Given the description of an element on the screen output the (x, y) to click on. 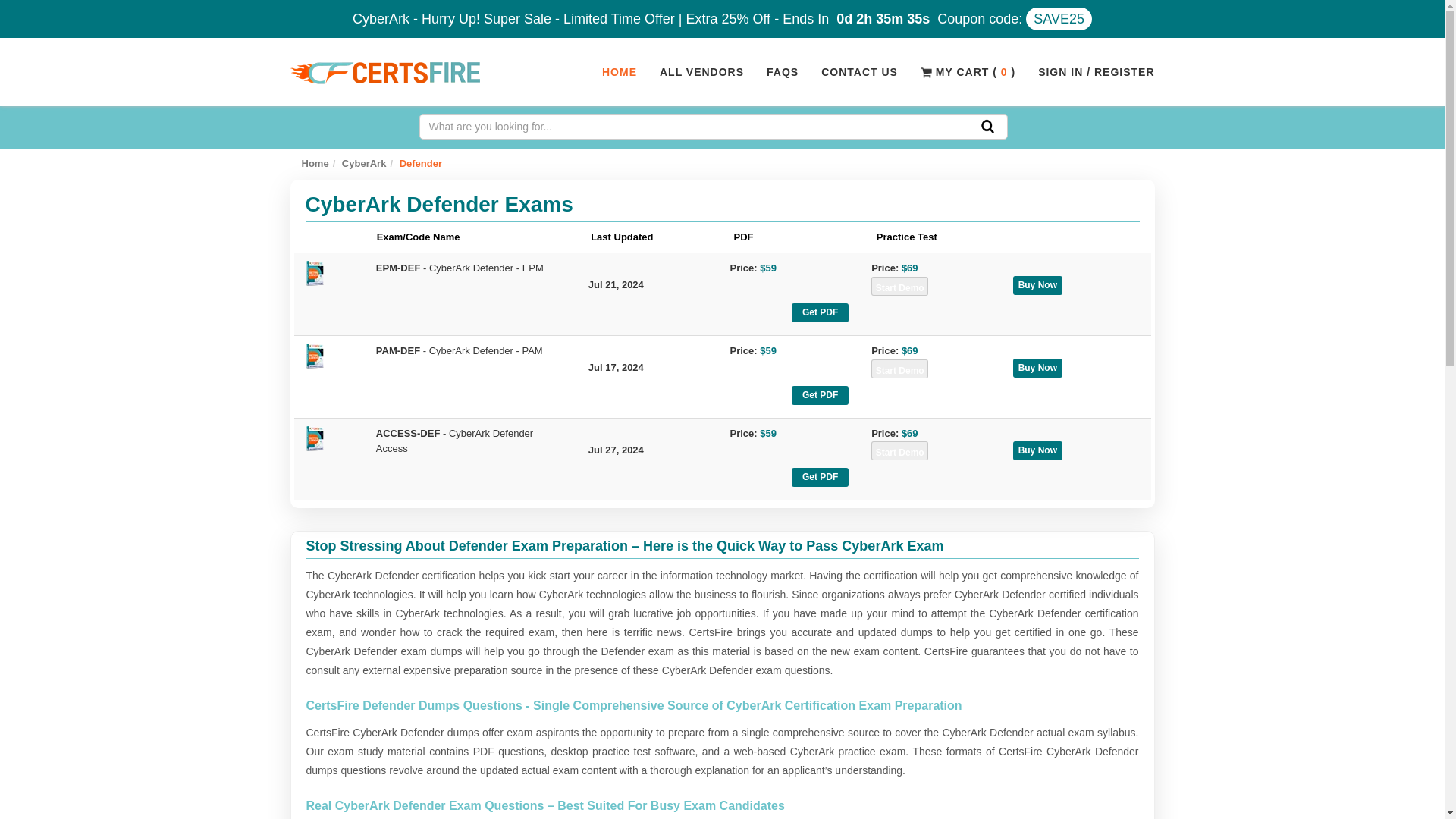
CyberArk (364, 163)
Get PDF (820, 476)
CONTACT US (858, 71)
Get PDF (820, 476)
Start Demo (899, 450)
Buy Now (1037, 367)
Get PDF (820, 312)
ACCESS-DEF (408, 432)
EPM-DEF (397, 267)
Buy Now (1037, 450)
ALL VENDORS (701, 71)
Buy Now (1037, 285)
Get PDF (820, 394)
Get PDF (820, 312)
Home (315, 163)
